Given the description of an element on the screen output the (x, y) to click on. 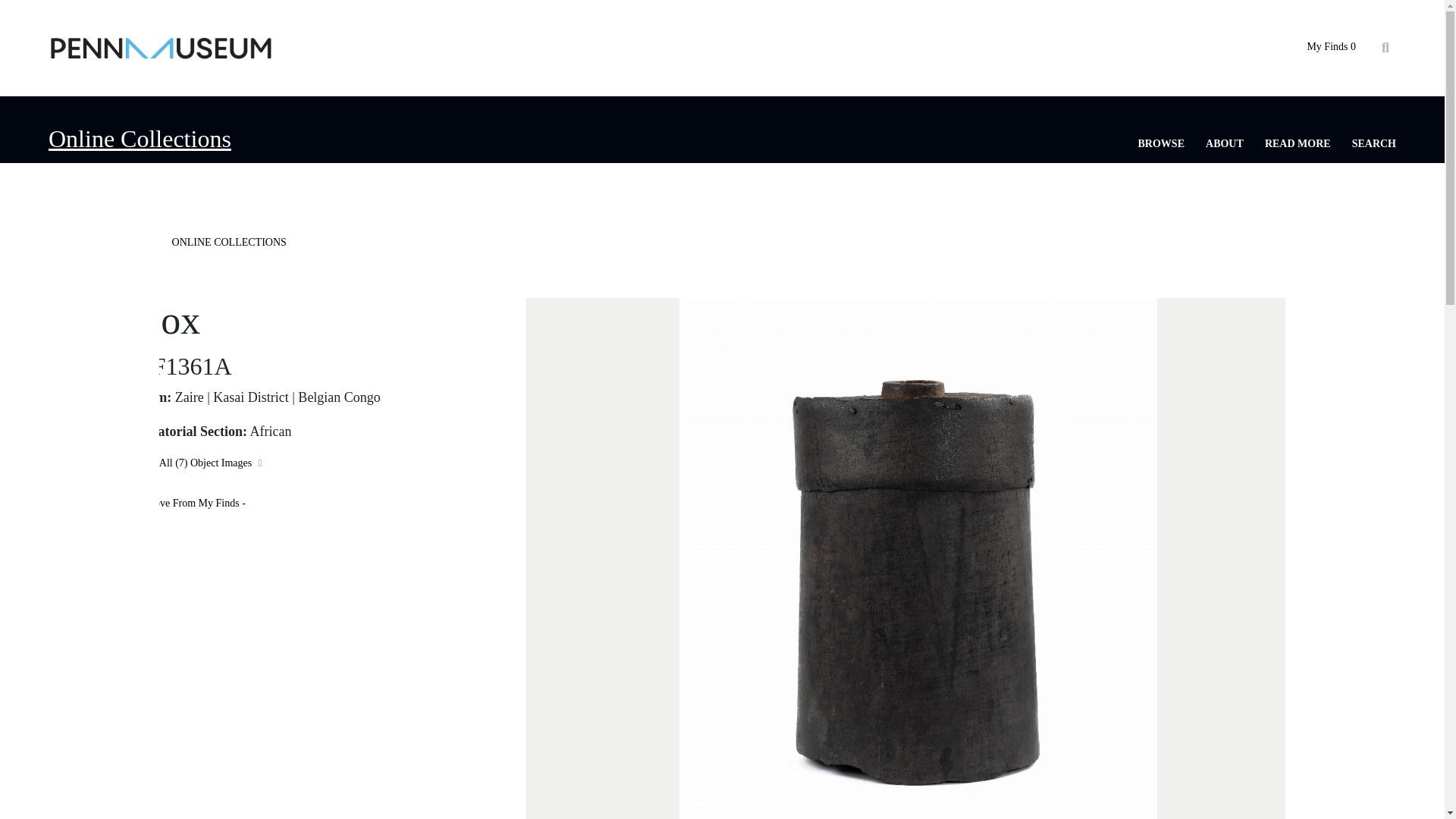
READ MORE (1297, 143)
SEARCH (1374, 143)
ABOUT (1224, 143)
Online Collections (139, 138)
My Finds 0 (1330, 46)
BROWSE (1161, 143)
